Given the description of an element on the screen output the (x, y) to click on. 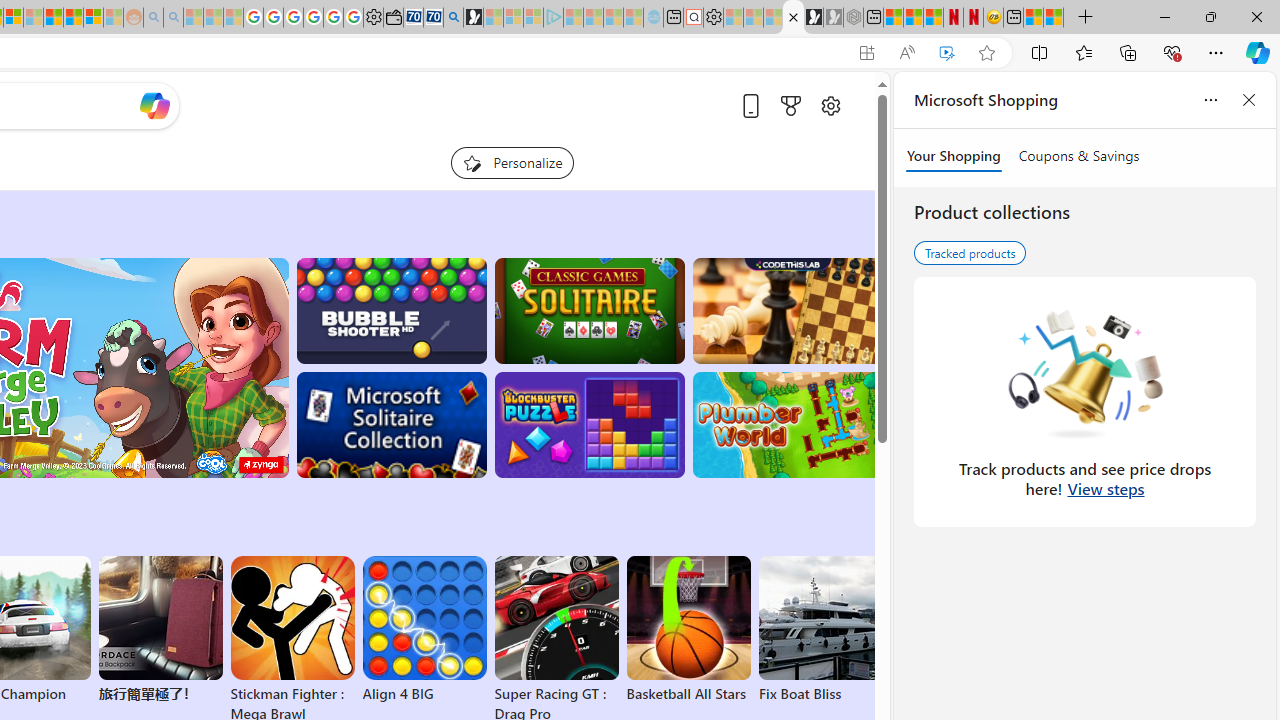
Kinda Frugal - MSN (73, 17)
Align 4 BIG (424, 629)
Wallet (393, 17)
Plumber World (787, 425)
Basketball All Stars (688, 629)
Bubble Shooter HD (390, 310)
